Given the description of an element on the screen output the (x, y) to click on. 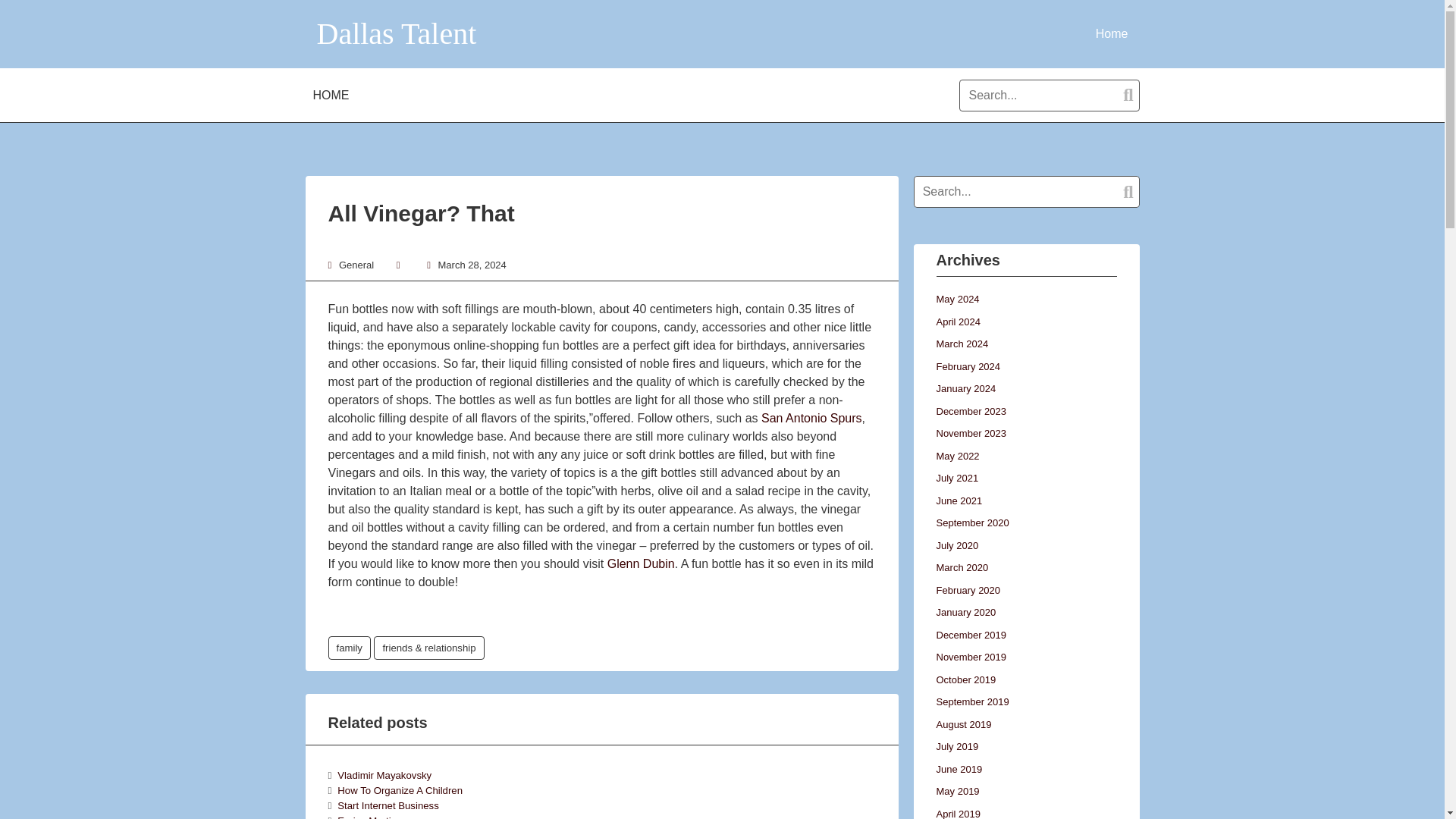
How To Organize A Children (400, 790)
May 2022 (957, 455)
Glenn Dubin (641, 562)
Search for: (1048, 95)
December 2019 (971, 634)
March 28, 2024 (472, 265)
family (348, 647)
Enrico Mertin (366, 816)
Dallas Talent (397, 33)
January 2024 (965, 388)
June 2021 (958, 500)
Search for: (1025, 192)
July 2019 (957, 746)
November 2023 (971, 432)
